Given the description of an element on the screen output the (x, y) to click on. 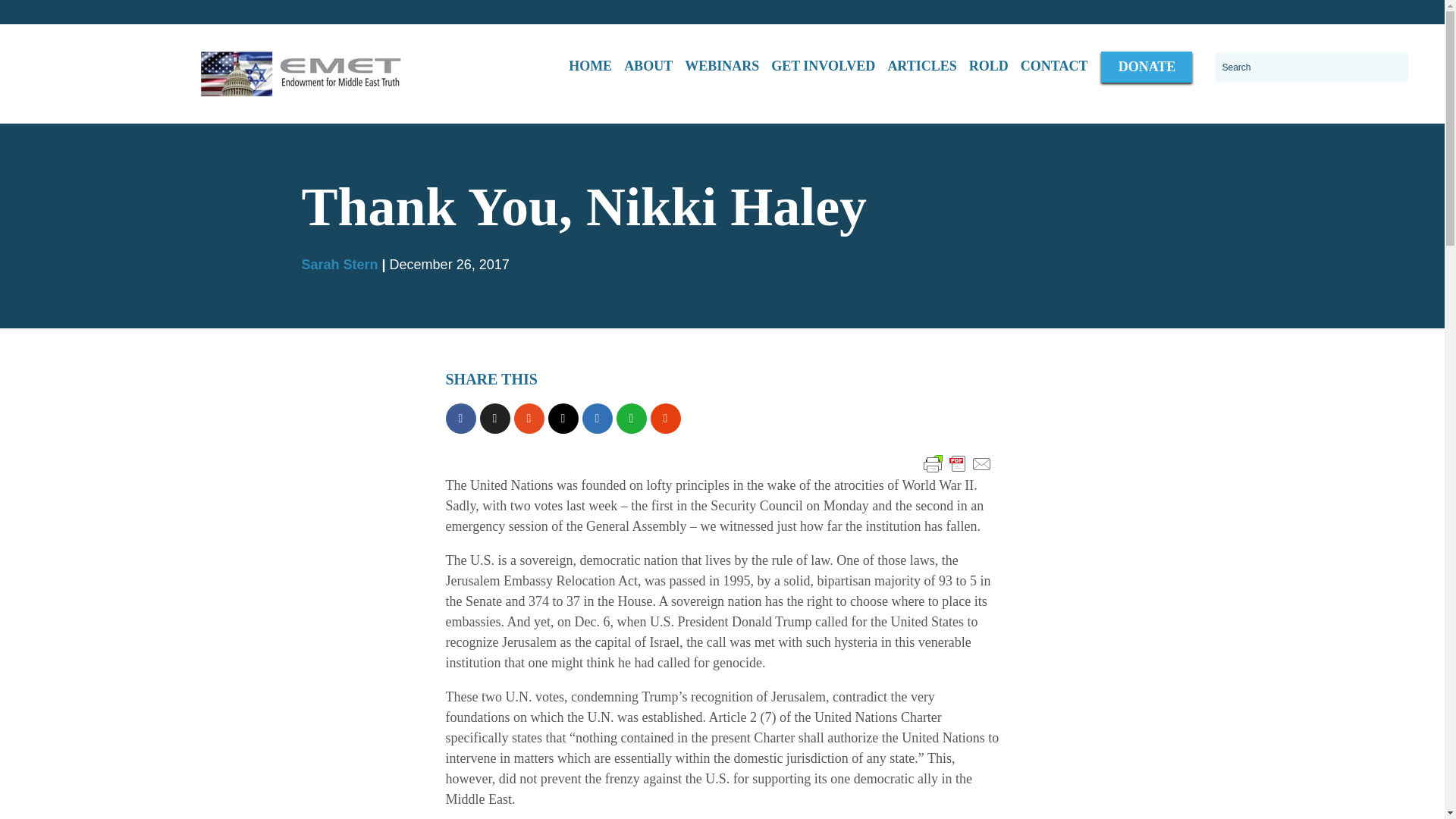
Sarah Stern (339, 264)
ABOUT (647, 66)
GET INVOLVED (822, 66)
ROLD (988, 66)
DONATE (1146, 66)
CONTACT (1054, 66)
WEBINARS (721, 66)
ARTICLES (921, 66)
Search for: (1310, 67)
HOME (589, 66)
